Given the description of an element on the screen output the (x, y) to click on. 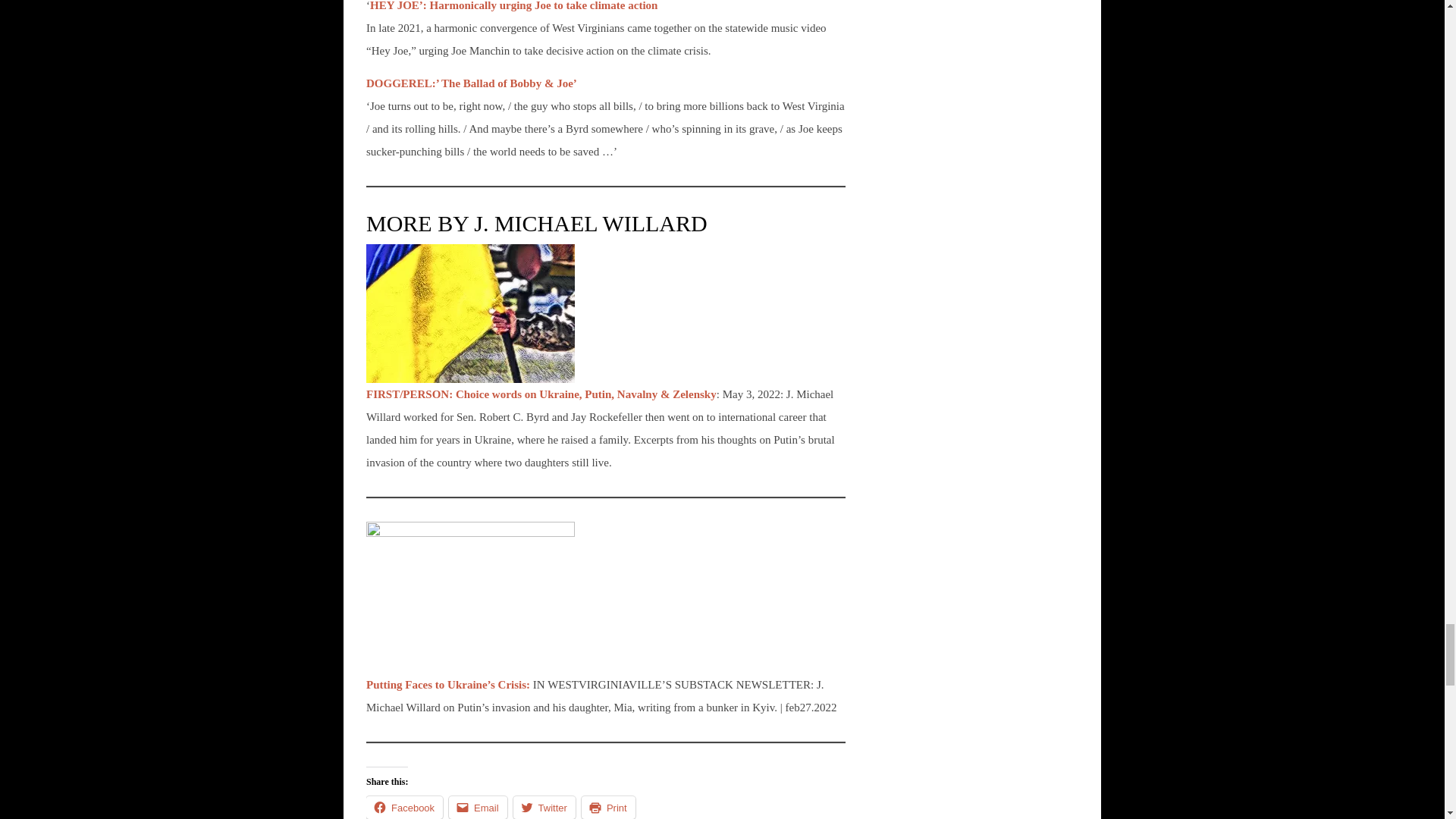
Click to email a link to a friend (477, 807)
Click to print (607, 807)
Click to share on Facebook (404, 807)
Click to share on Twitter (544, 807)
